Given the description of an element on the screen output the (x, y) to click on. 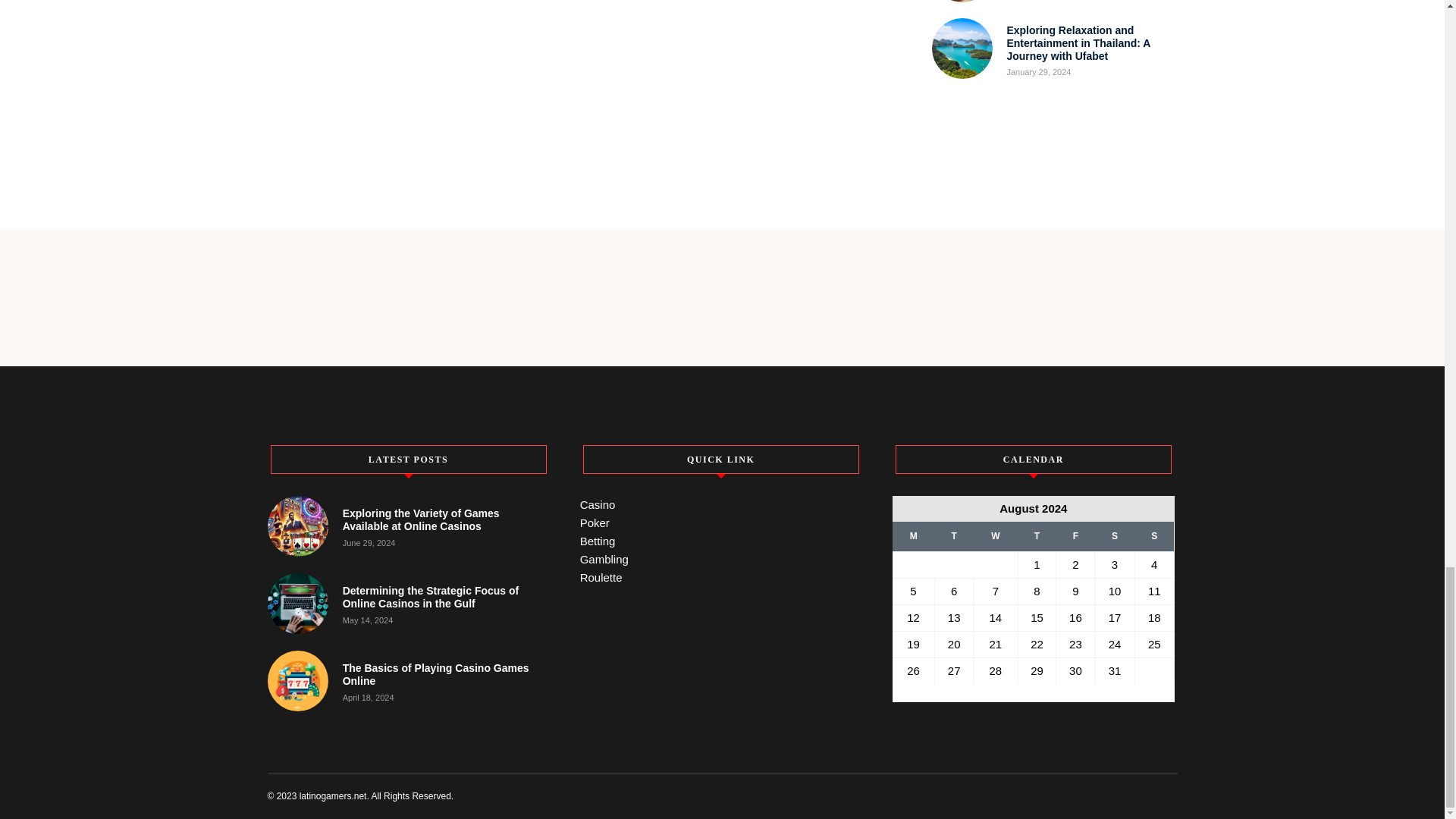
Monday (913, 536)
Saturday (1114, 536)
Wednesday (995, 536)
Tuesday (954, 536)
Sunday (1153, 536)
Friday (1075, 536)
Thursday (1037, 536)
